Given the description of an element on the screen output the (x, y) to click on. 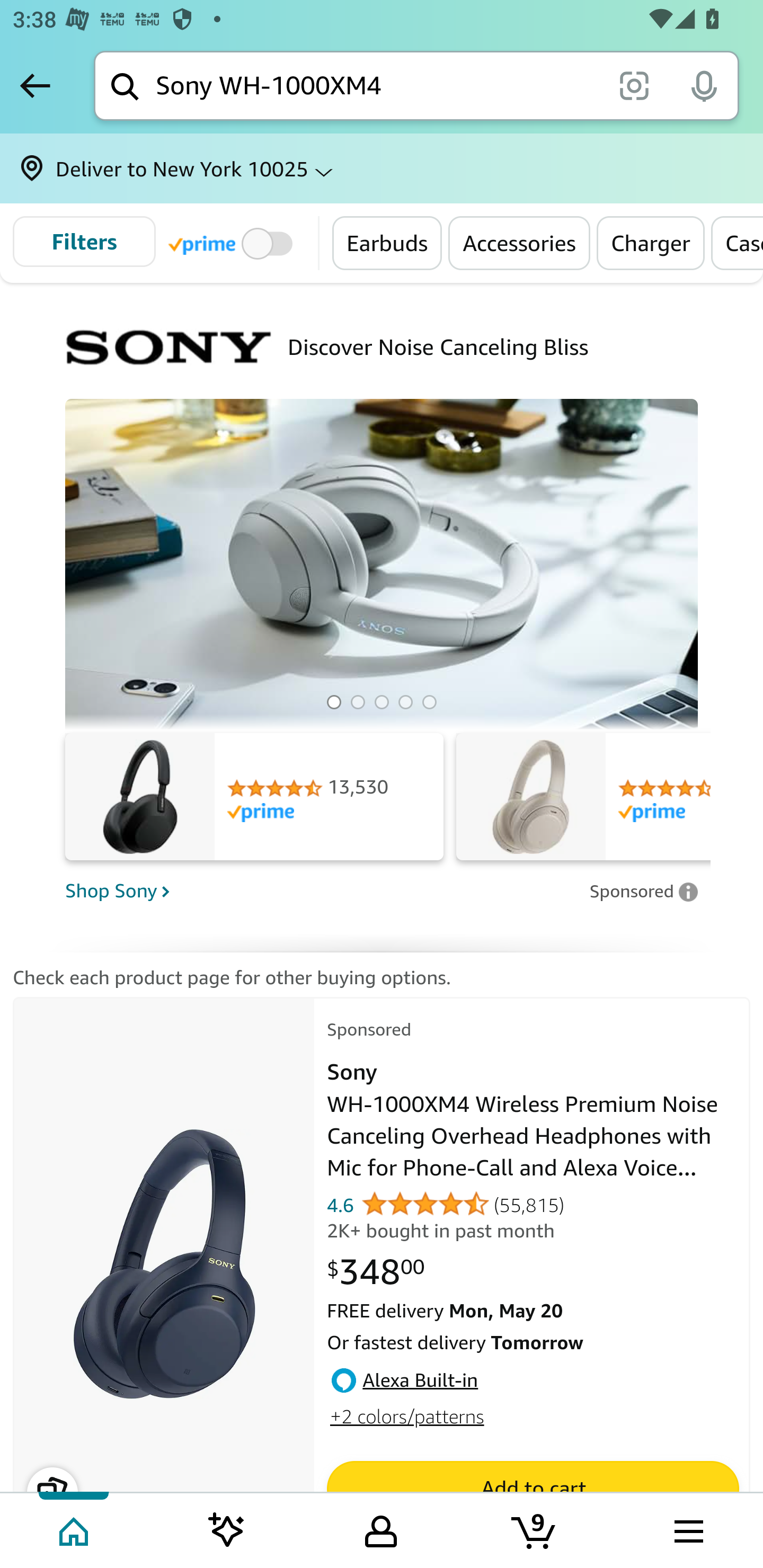
Back (35, 85)
scan it (633, 85)
Deliver to New York 10025 ⌵ (381, 168)
Filters (83, 241)
Toggle to filter by Prime products Prime Eligible (233, 242)
Earbuds (387, 242)
Accessories (519, 242)
Charger (650, 242)
Shop Sony Shop  Sony  (321, 891)
Leave feedback on Sponsored ad (643, 891)
+2 colors/patterns (406, 1416)
